Given the description of an element on the screen output the (x, y) to click on. 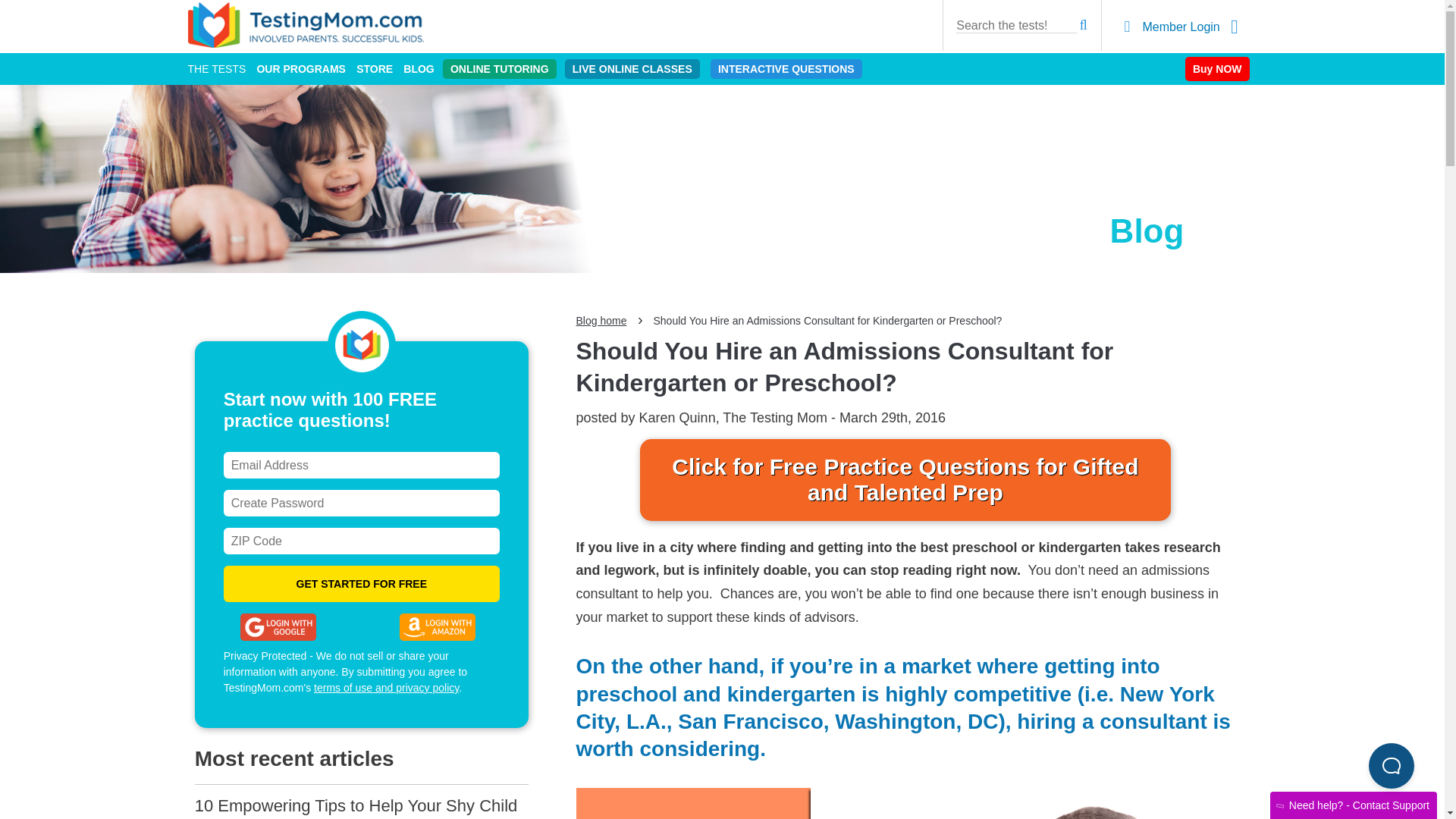
Member Login (1180, 26)
Buy NOW (1217, 68)
INTERACTIVE QUESTIONS (785, 68)
BLOG (418, 69)
STORE (374, 69)
THE TESTS (216, 69)
OUR PROGRAMS (300, 69)
ONLINE TUTORING (499, 68)
LIVE ONLINE CLASSES (632, 68)
Blog home (601, 320)
